Given the description of an element on the screen output the (x, y) to click on. 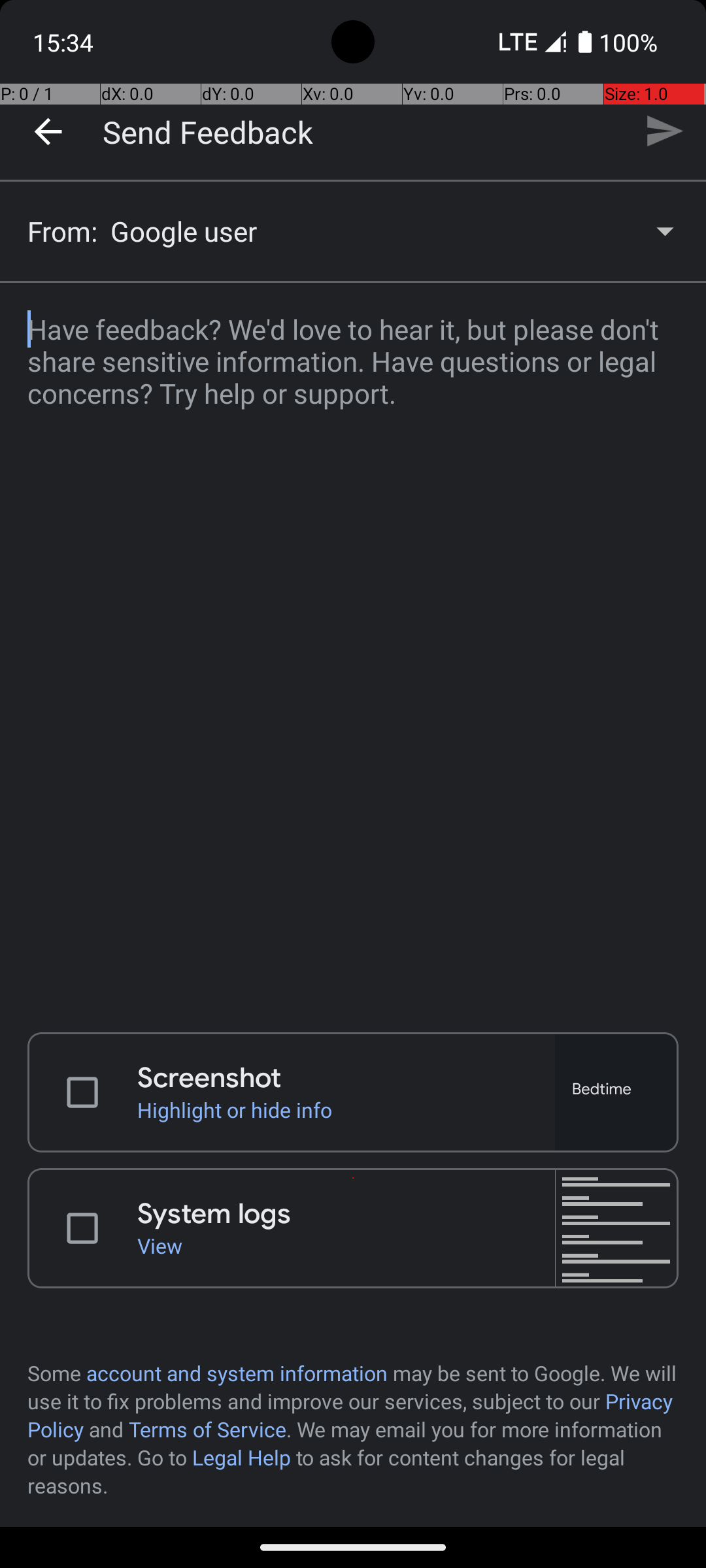
Send Feedback Element type: android.widget.TextView (207, 131)
Send Element type: android.widget.Button (664, 131)
Have feedback? We'd love to hear it, but please don't share sensitive information. Have questions or legal concerns? Try help or support. Element type: android.widget.EditText (353, 649)
Some account and system information may be sent to Google. We will use it to fix problems and improve our services, subject to our Privacy Policy and Terms of Service. We may email you for more information or updates. Go to Legal Help to ask for content changes for legal reasons. Element type: android.widget.TextView (352, 1428)
From:  Google user Element type: android.widget.TextView (352, 230)
Screenshot Element type: android.widget.TextView (345, 1077)
Highlight or hide info Element type: android.widget.TextView (345, 1109)
System logs Element type: android.widget.TextView (345, 1213)
View Element type: android.widget.TextView (345, 1245)
